Given the description of an element on the screen output the (x, y) to click on. 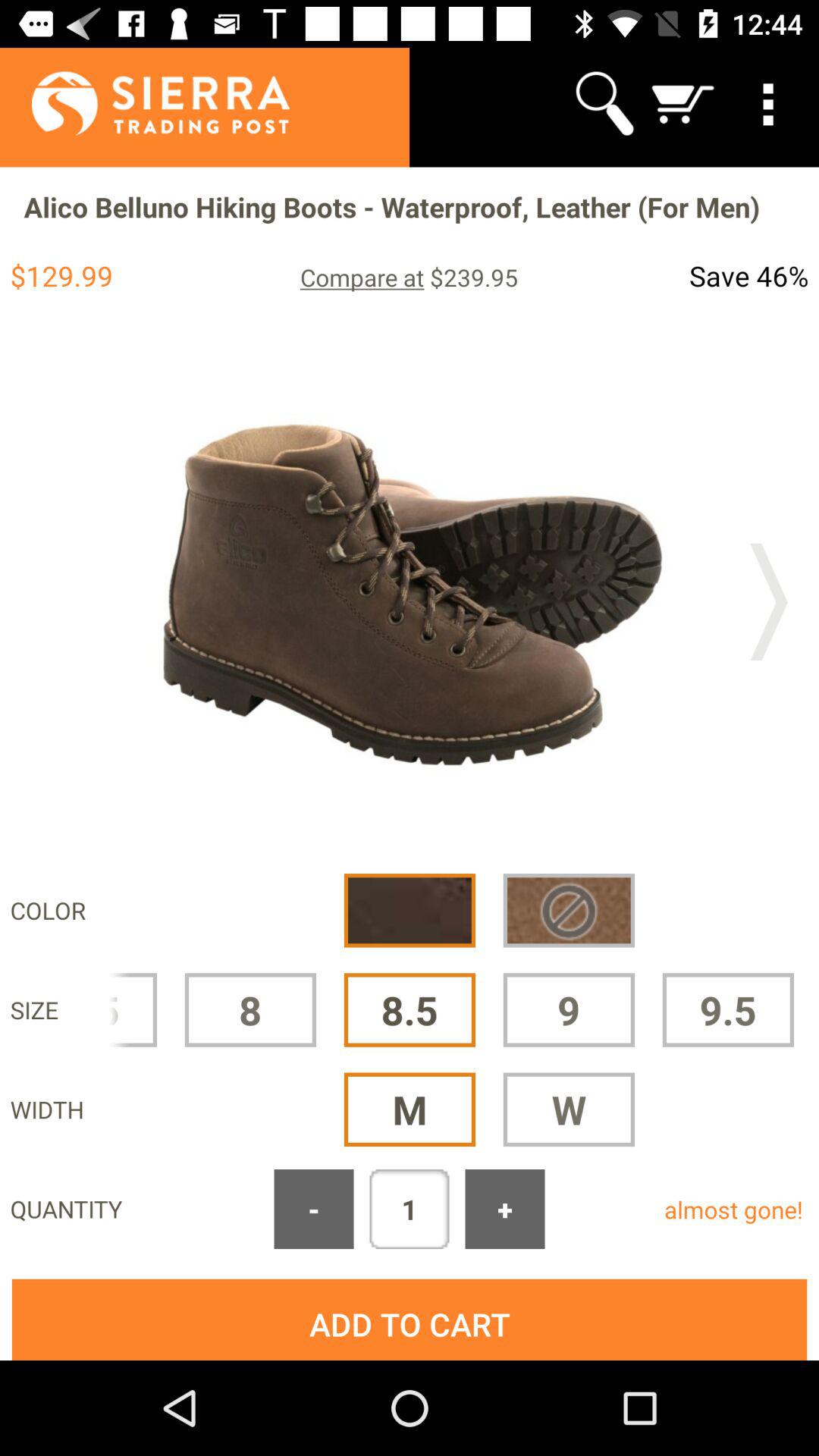
swipe until the add to cart button (409, 1319)
